Given the description of an element on the screen output the (x, y) to click on. 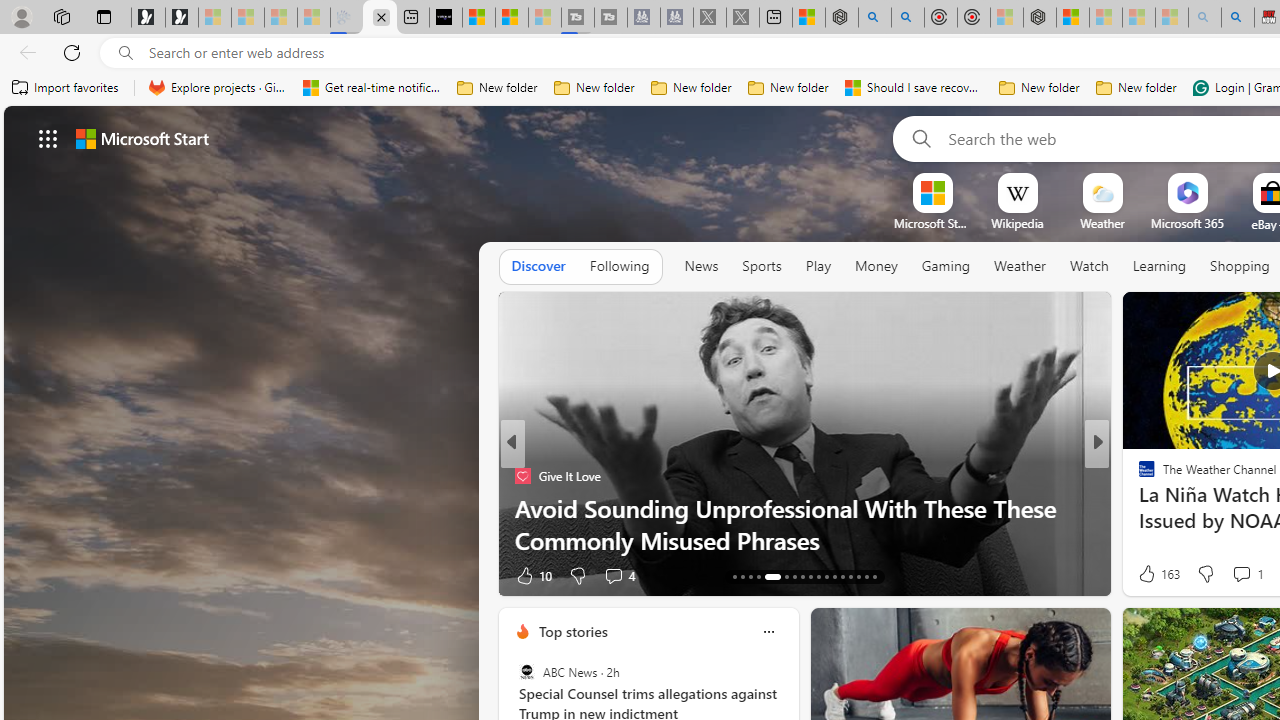
AutomationID: tab-52 (865, 576)
74 Like (1149, 574)
View comments 2 Comment (1229, 575)
amazon - Search - Sleeping (1205, 17)
Planning to Organize (1138, 475)
ABC News (526, 672)
